Given the description of an element on the screen output the (x, y) to click on. 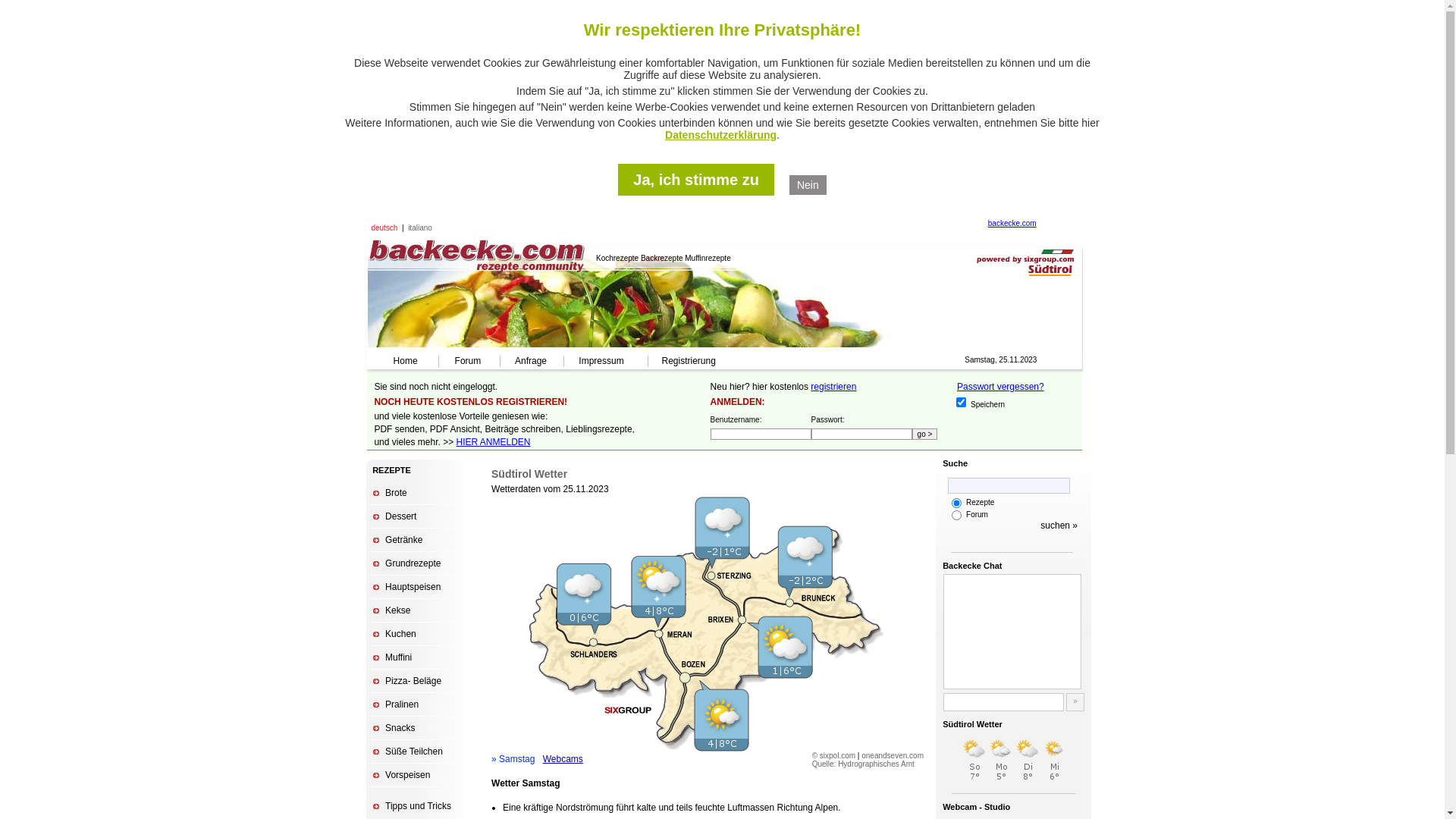
Forum Element type: text (468, 360)
Anfrage Element type: text (530, 360)
HIER ANMELDEN Element type: text (493, 441)
Pralinen Element type: text (401, 704)
italiano Element type: text (419, 226)
backecke.com Element type: text (1012, 223)
Impressum Element type: text (600, 360)
Nein Element type: text (807, 184)
oneandseven.com Element type: text (892, 755)
Home Element type: text (405, 360)
Muffini Element type: text (398, 657)
Vorspeisen Element type: text (407, 774)
Ja, ich stimme zu Element type: text (696, 179)
Hauptspeisen Element type: text (412, 586)
Dessert Element type: text (400, 516)
Quelle: Hydrographisches Amt Element type: text (863, 763)
Snacks Element type: text (399, 727)
Kekse Element type: text (397, 610)
Tipps und Tricks Element type: text (418, 805)
Registrierung Element type: text (688, 360)
registrieren Element type: text (833, 386)
Kuchen Element type: text (400, 633)
go > Element type: text (925, 433)
Passwort vergessen? Element type: text (1000, 386)
Webcams Element type: text (562, 758)
Grundrezepte Element type: text (412, 563)
Brote Element type: text (396, 492)
